Given the description of an element on the screen output the (x, y) to click on. 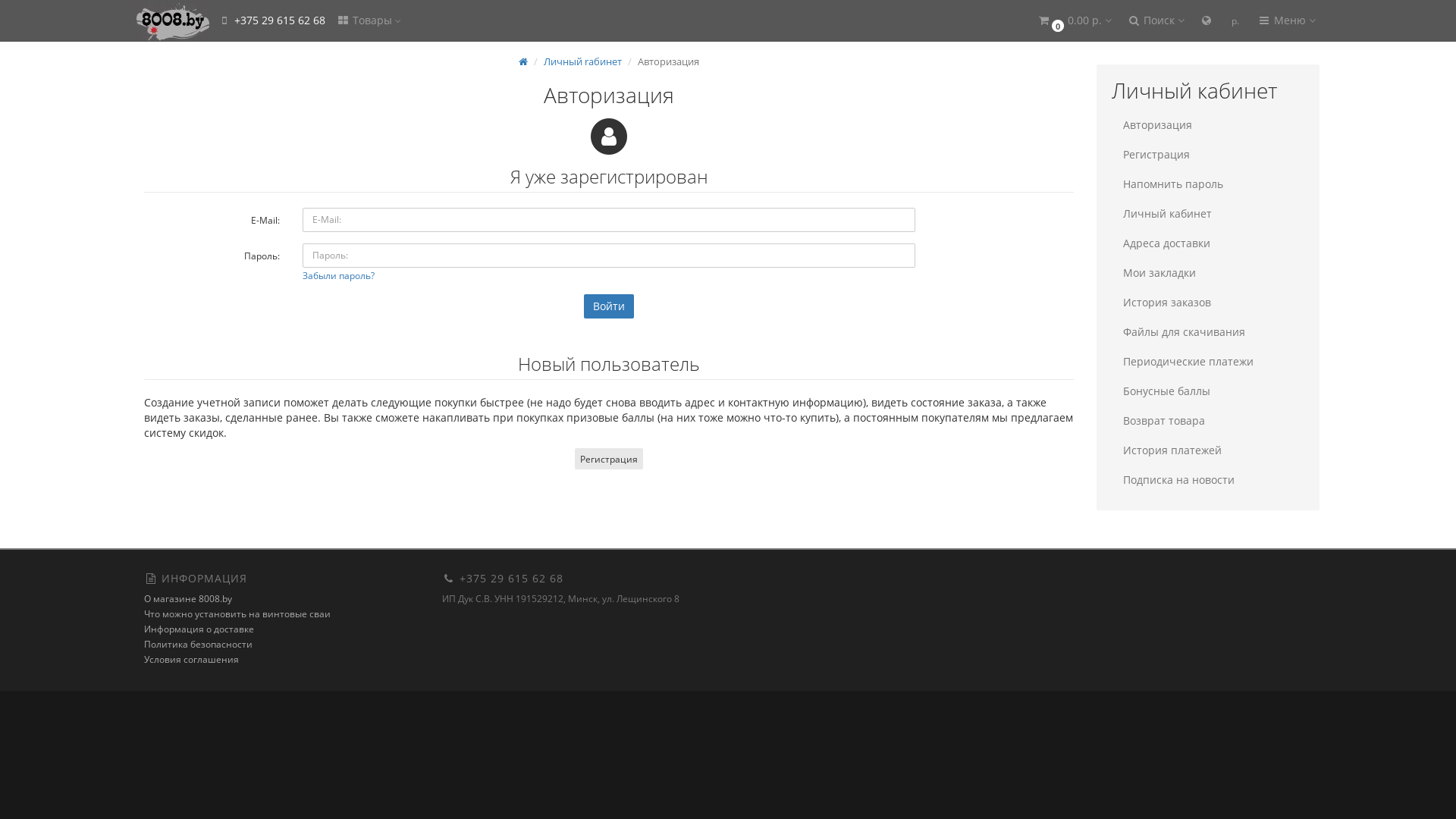
+375 29 615 62 68 Element type: text (271, 20)
